Given the description of an element on the screen output the (x, y) to click on. 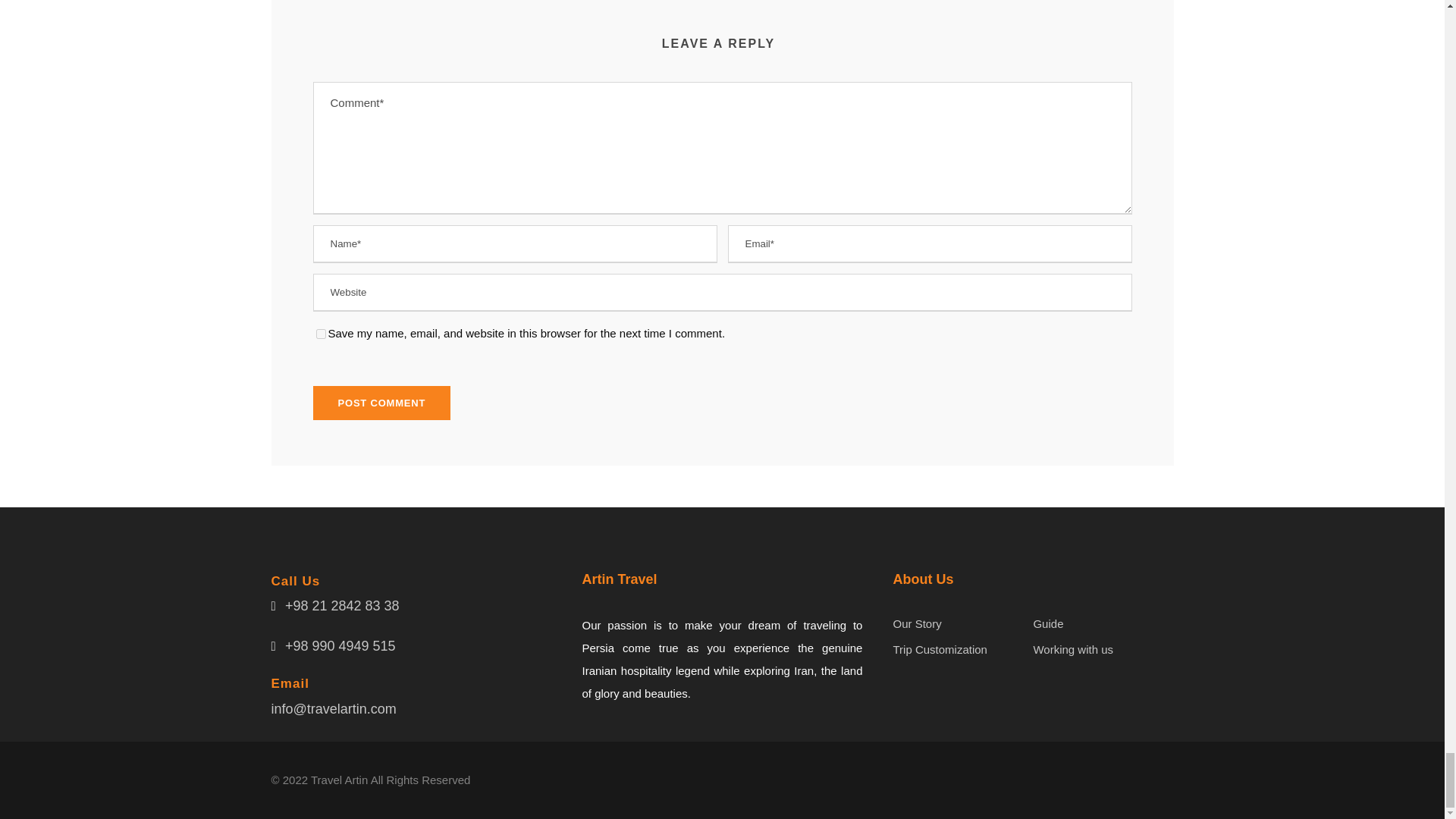
yes (319, 334)
Post Comment (381, 402)
